Given the description of an element on the screen output the (x, y) to click on. 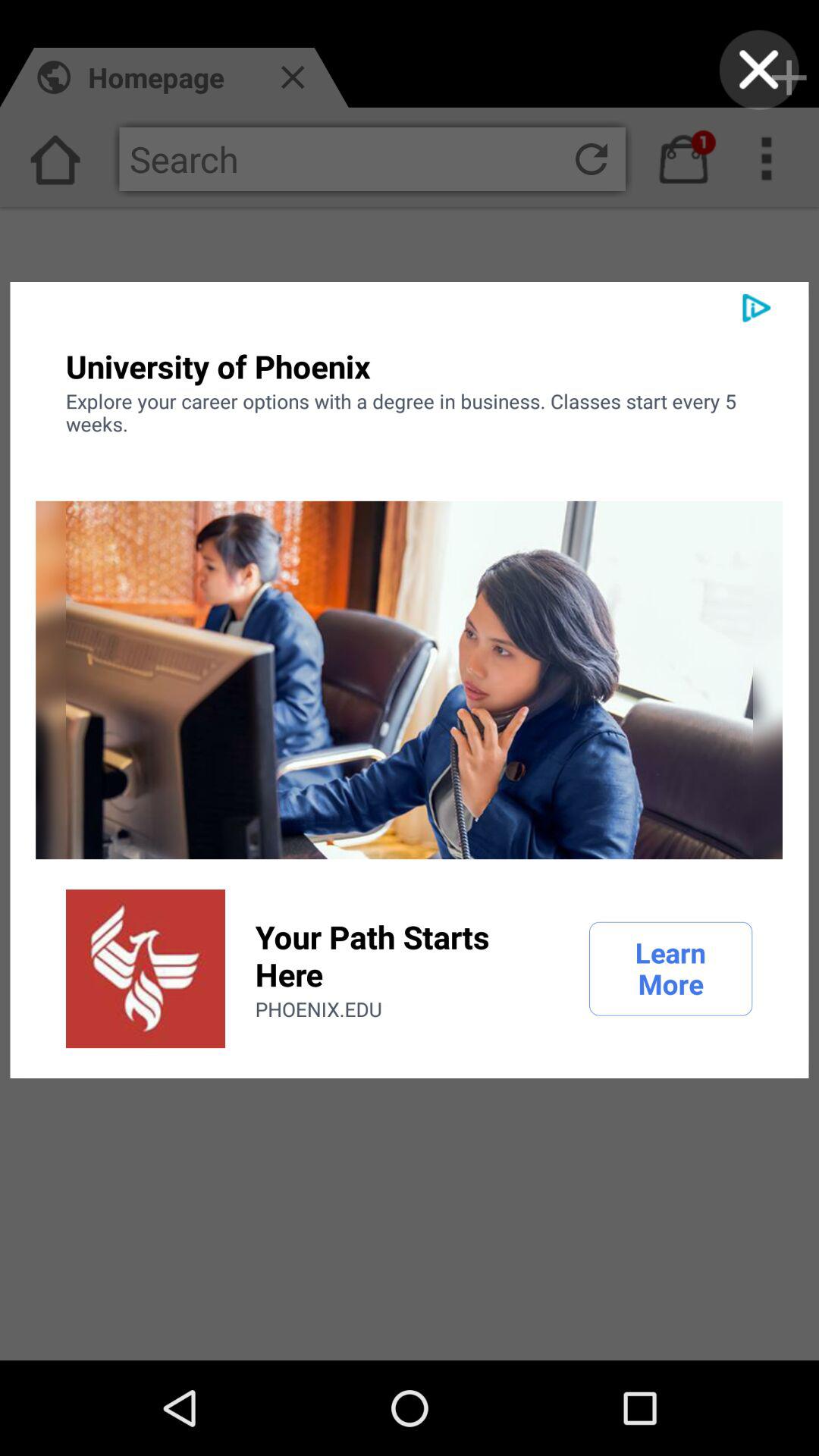
open the icon to the left of your path starts icon (145, 968)
